Given the description of an element on the screen output the (x, y) to click on. 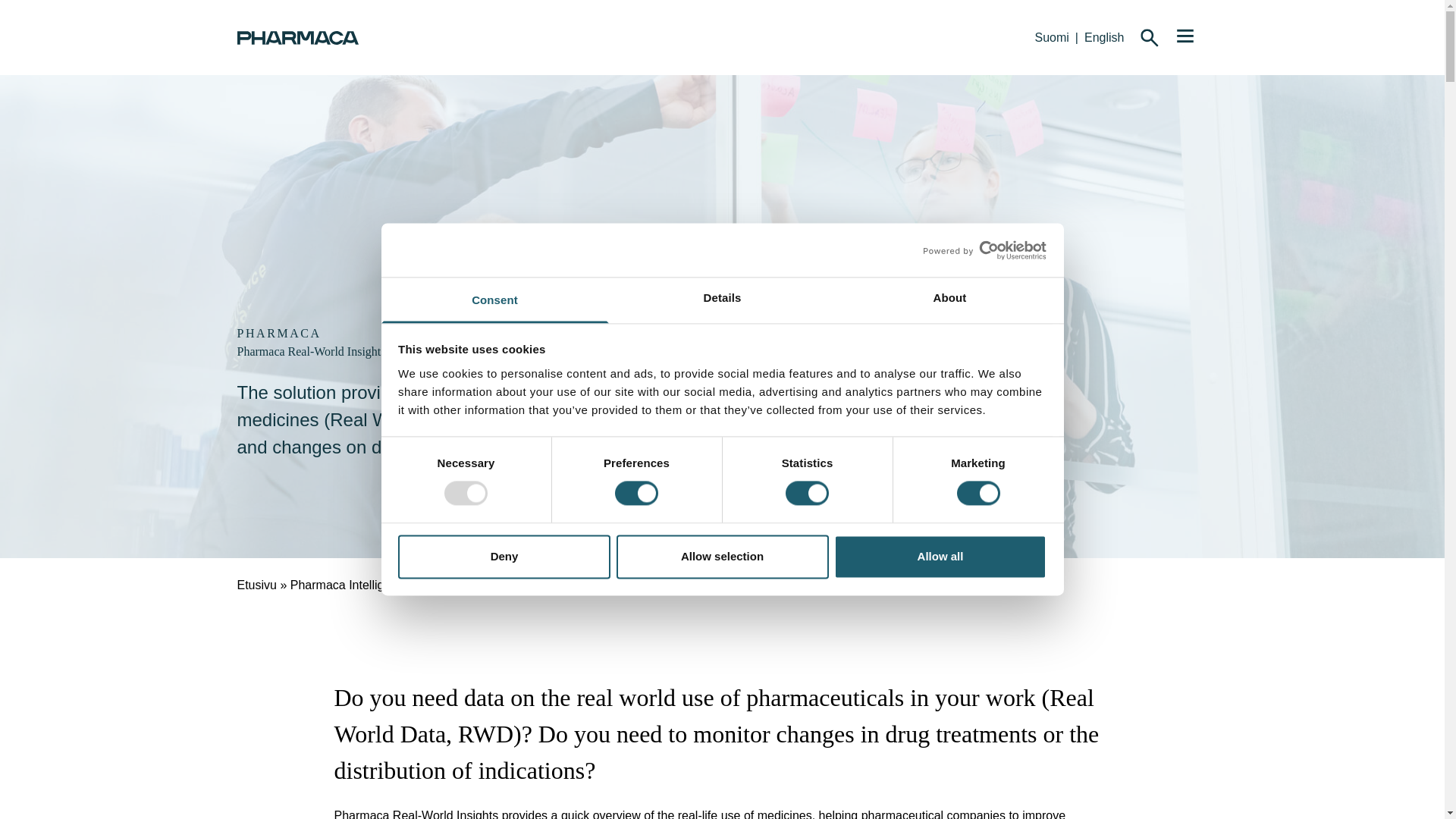
Details (721, 299)
Allow selection (721, 556)
Deny (503, 556)
Consent (494, 299)
About (948, 299)
